Given the description of an element on the screen output the (x, y) to click on. 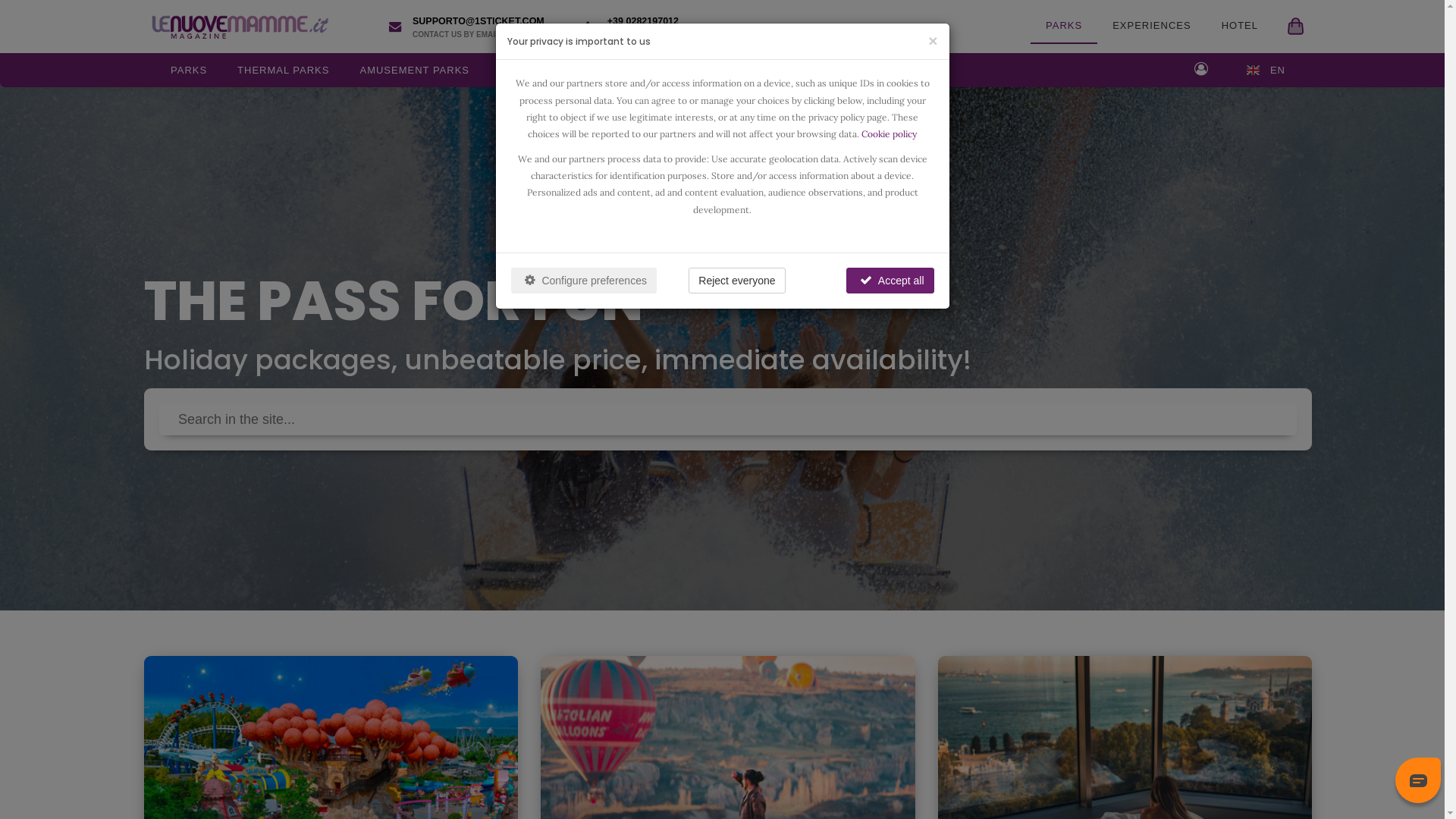
EXPERIENCES Element type: text (1151, 25)
AMUSEMENT PARKS Element type: text (414, 69)
THERMAL PARKS Element type: text (283, 69)
Le Nuove Mamme Element type: hover (236, 26)
   EN Element type: text (1265, 69)
Configure preferences Element type: text (583, 280)
Cookie policy Element type: text (888, 133)
+39 0282197012
LUN-VEN 9:30-18:30 Element type: text (636, 26)
PARKS Element type: text (1063, 26)
Accept all Element type: text (890, 280)
PARKS Element type: text (188, 69)
SUPPORTO@1STICKET.COM
CONTACT US BY EMAIL: Element type: text (470, 26)
Reject everyone Element type: text (736, 280)
HOTEL Element type: text (1239, 25)
